Given the description of an element on the screen output the (x, y) to click on. 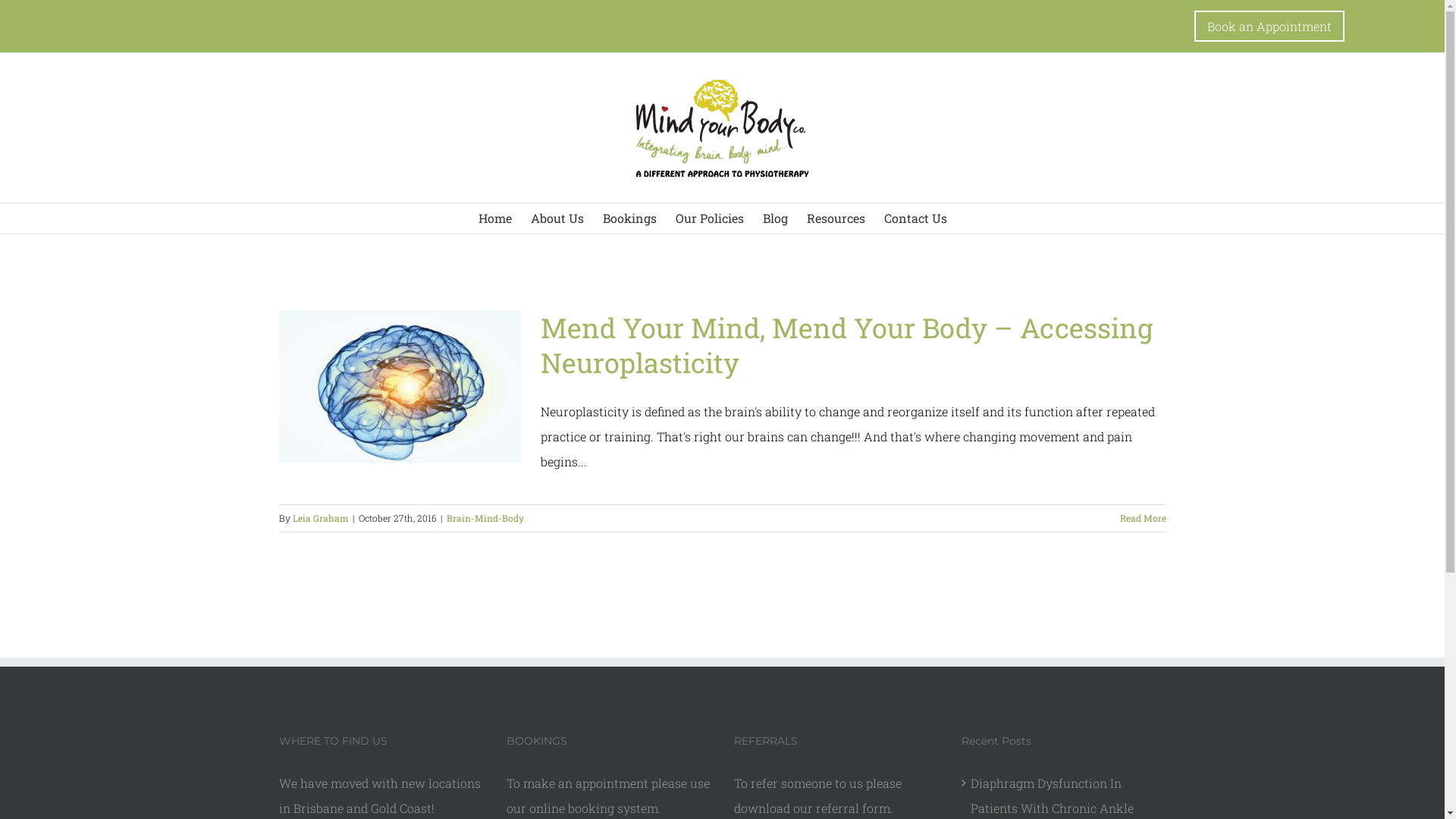
Our Policies Element type: text (709, 218)
Blog Element type: text (774, 218)
About Us Element type: text (556, 218)
Brain-Mind-Body Element type: text (484, 517)
Resources Element type: text (835, 218)
Contact Us Element type: text (915, 218)
Leia Graham Element type: text (320, 517)
Bookings Element type: text (629, 218)
Book an Appointment Element type: text (1269, 25)
Read More Element type: text (1142, 517)
Home Element type: text (494, 218)
